Given the description of an element on the screen output the (x, y) to click on. 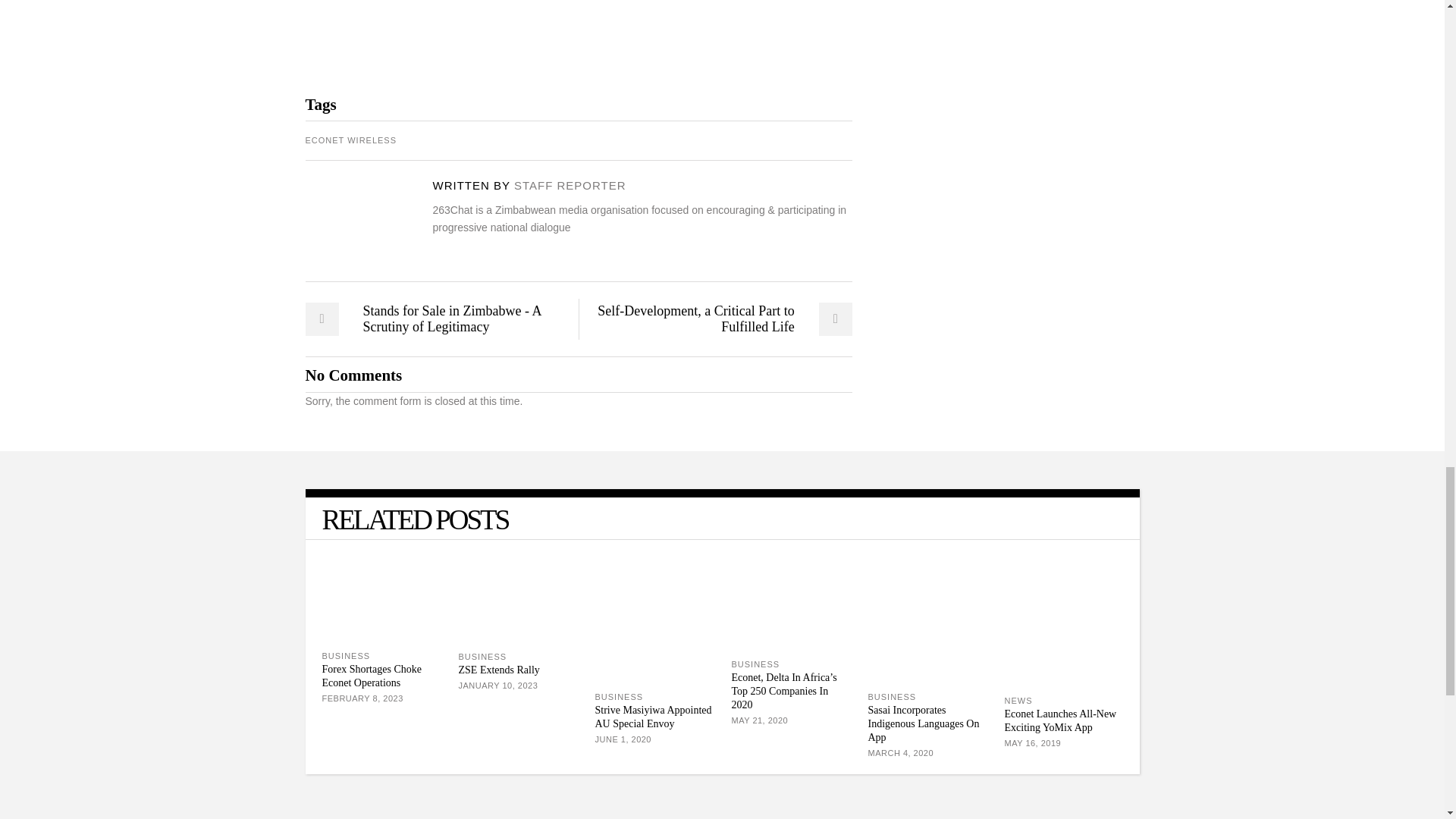
Econet Group Executive Shines in Washington DC (569, 185)
Econet Group Executive Shines in Washington DC (350, 220)
